Given the description of an element on the screen output the (x, y) to click on. 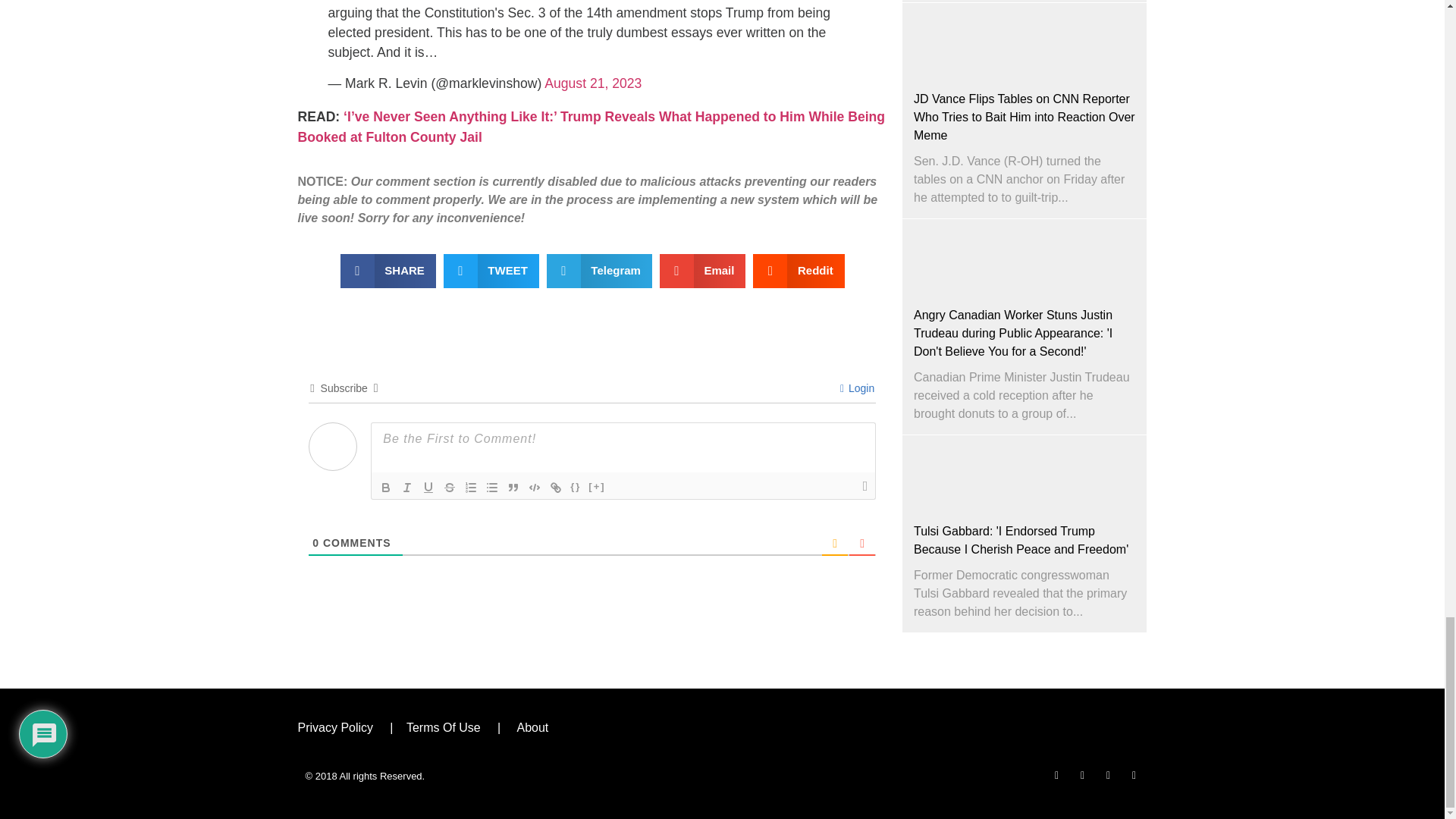
Link (555, 487)
Strike (449, 487)
Source Code (575, 487)
Spoiler (596, 487)
Italic (406, 487)
Blockquote (513, 487)
Bold (385, 487)
Underline (428, 487)
Unordered List (491, 487)
Login (857, 387)
